Given the description of an element on the screen output the (x, y) to click on. 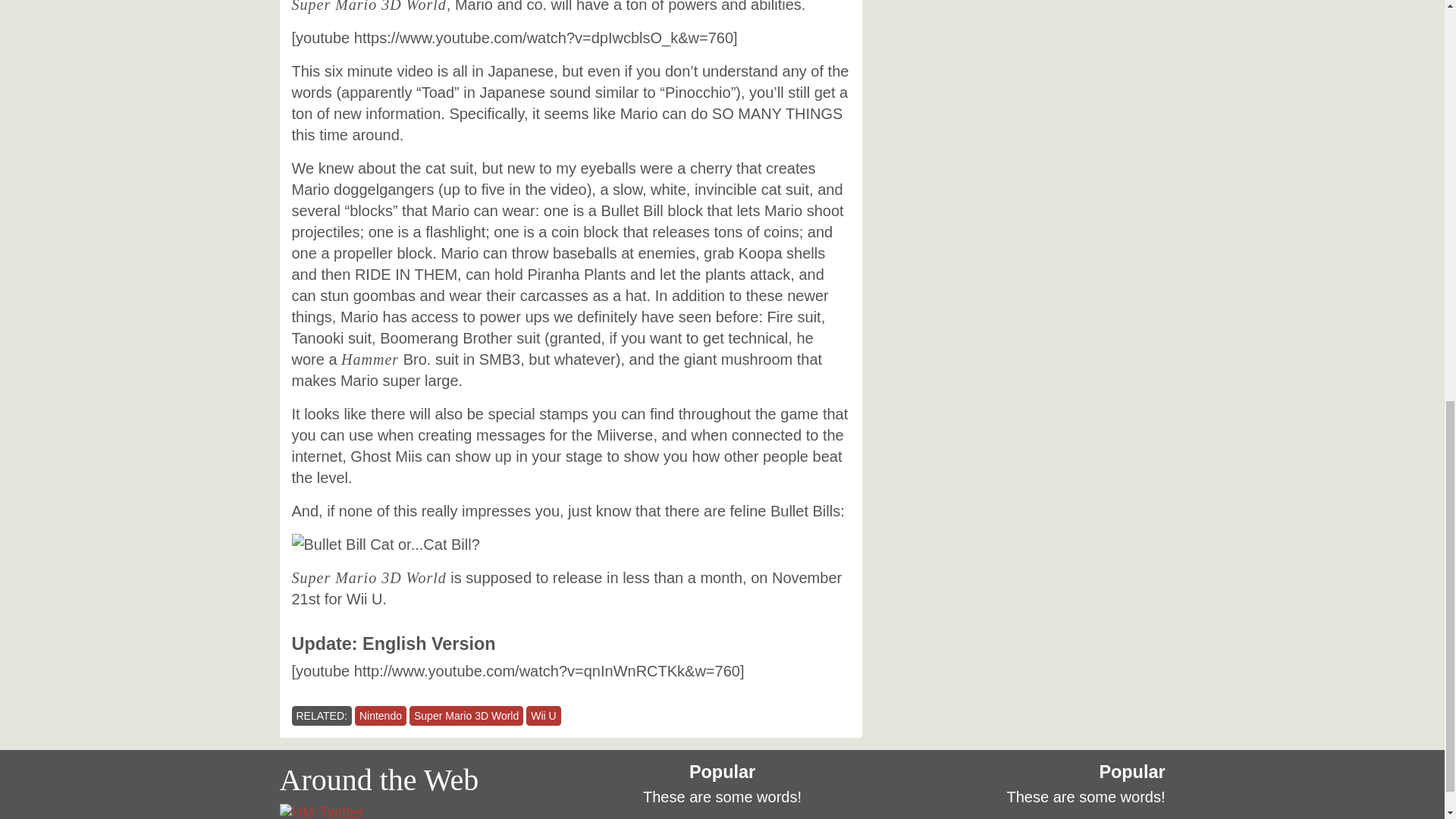
Wii U (542, 715)
Nintendo (380, 715)
HM Twitter (320, 811)
Bullet Bill Cat or...Cat Bill? (385, 544)
Super Mario 3D World (465, 715)
